Given the description of an element on the screen output the (x, y) to click on. 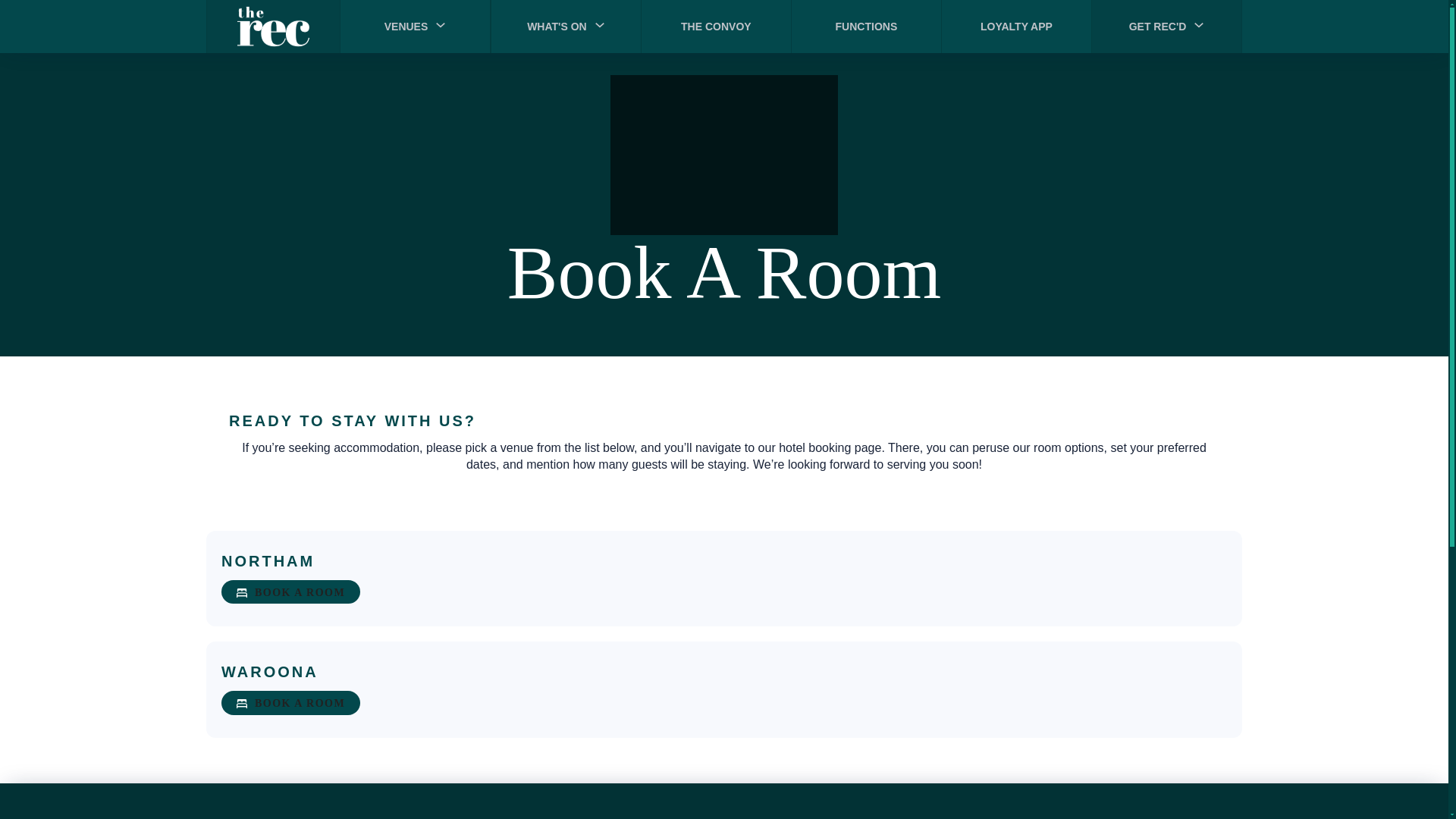
FUNCTIONS (867, 26)
LOYALTY APP (1017, 26)
BOOK A ROOM (290, 591)
THE CONVOY (717, 26)
Learn more about Northam (267, 560)
Venues (406, 26)
Book a Room at Waroona (290, 702)
Book a Room at Northam (290, 591)
Home Link (272, 26)
BOOK A ROOM (290, 702)
